Given the description of an element on the screen output the (x, y) to click on. 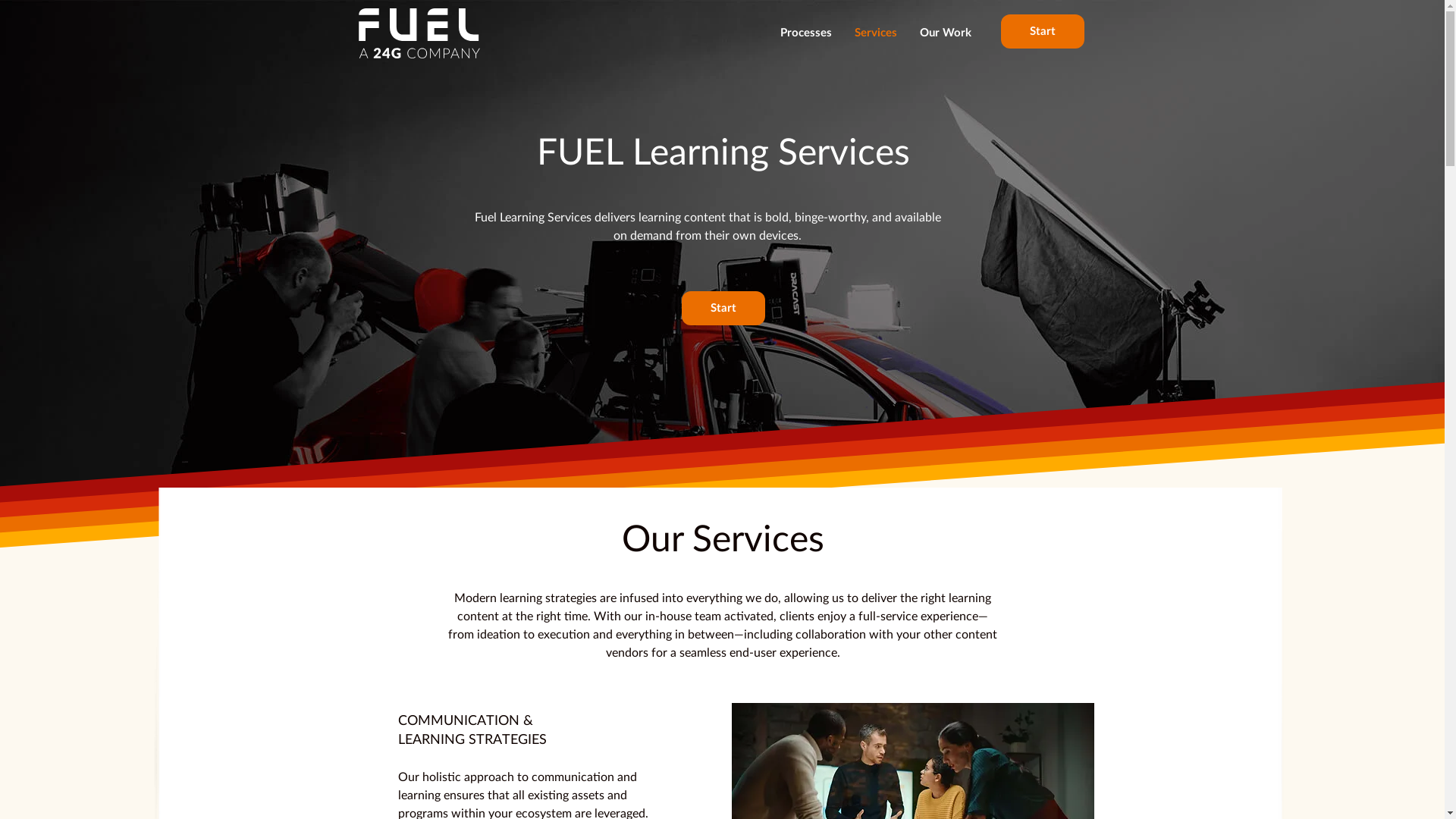
Start Element type: text (722, 308)
Services Element type: text (875, 33)
Start Element type: text (1042, 31)
Processes Element type: text (805, 33)
Our Work Element type: text (945, 33)
